Given the description of an element on the screen output the (x, y) to click on. 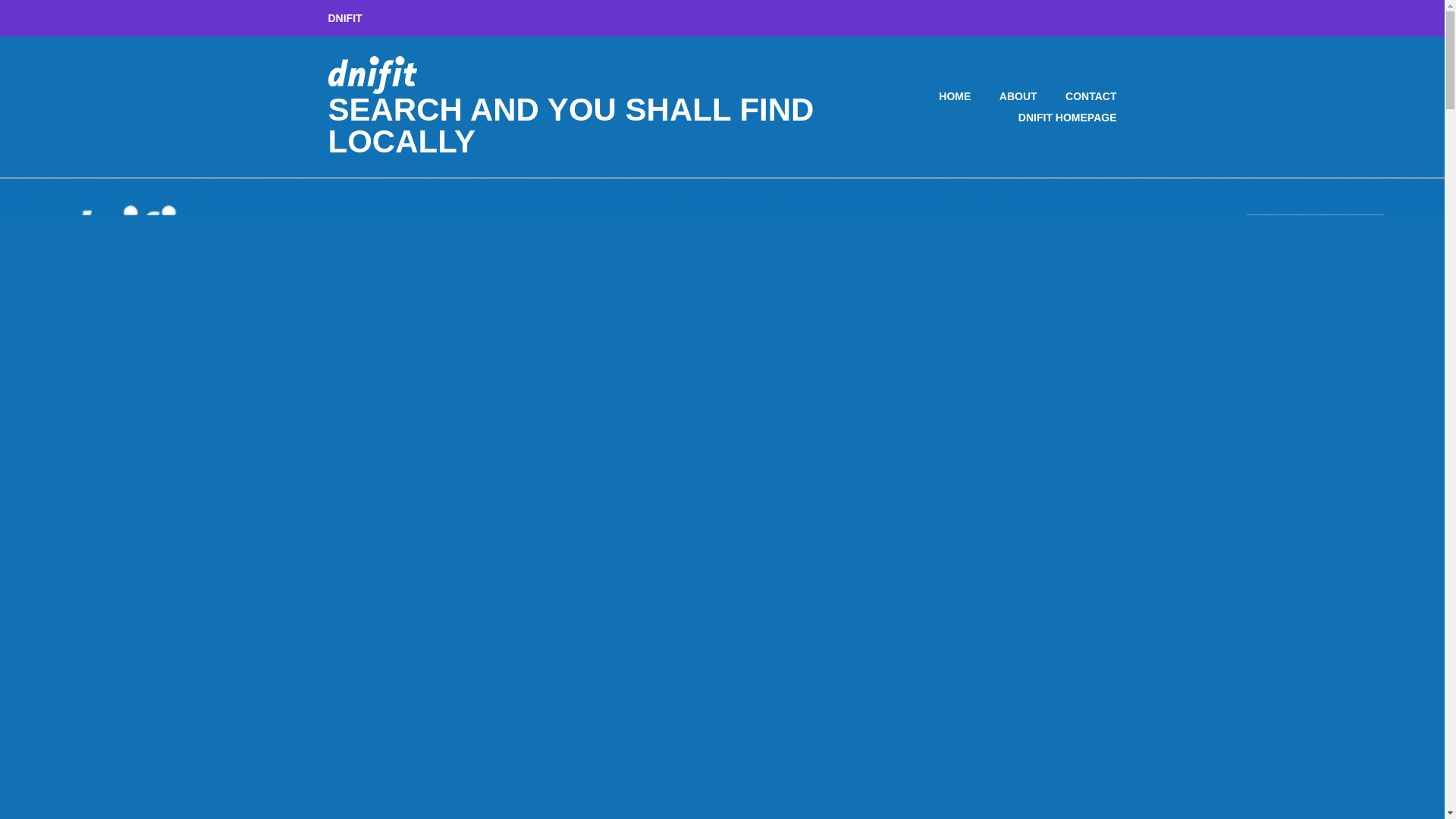
ABOUT (1005, 96)
SEARCH AND YOU SHALL FIND LOCALLY (570, 124)
HOME (942, 96)
DNIFIT HOMEPAGE (1054, 117)
CONTACT (1078, 96)
